Given the description of an element on the screen output the (x, y) to click on. 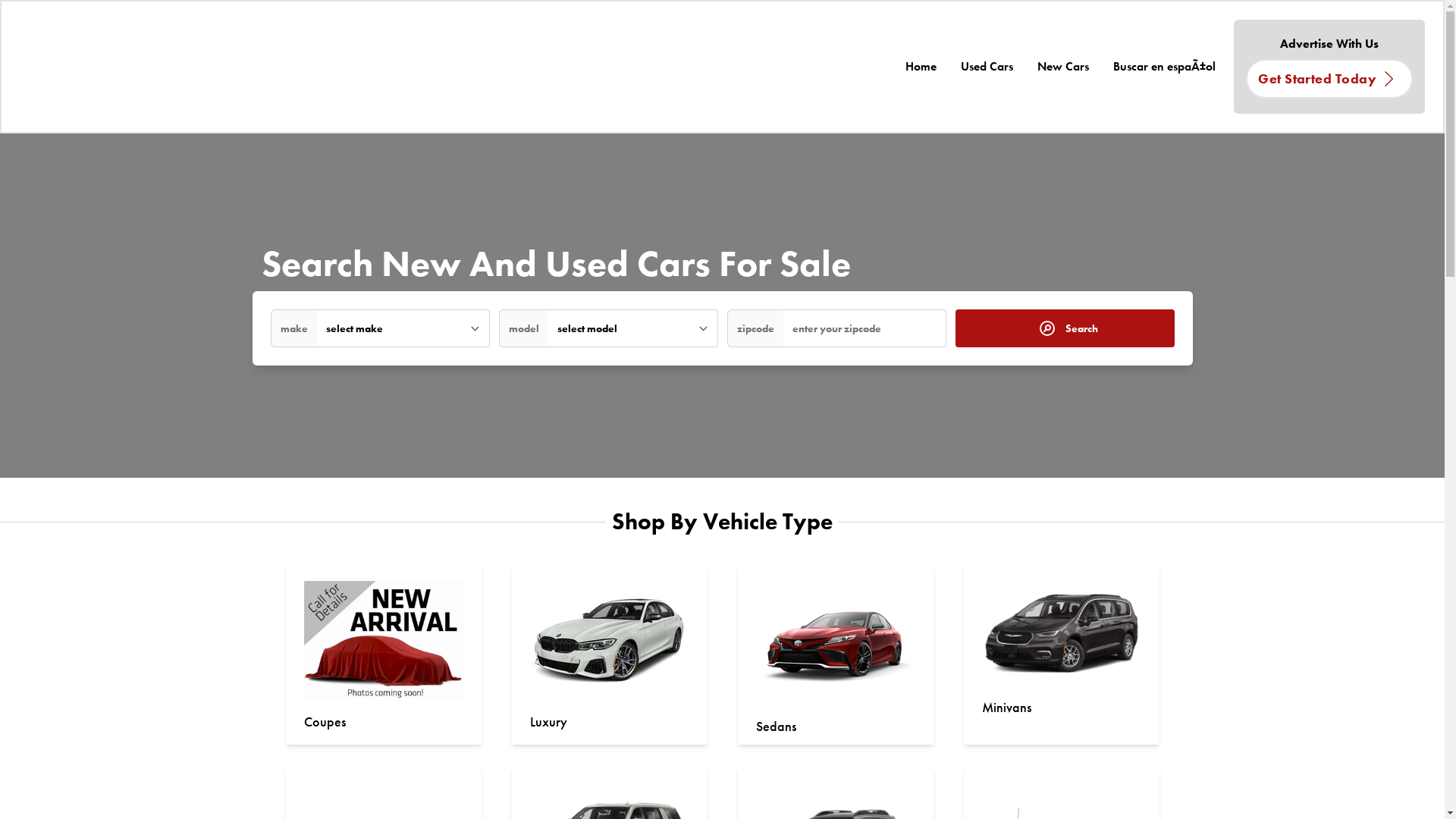
Get Started Today Element type: text (1328, 78)
New Cars Element type: text (1063, 66)
Home Element type: text (920, 66)
Coupes Element type: text (324, 721)
Used Cars Element type: text (986, 66)
Luxury Element type: text (547, 721)
Minivans Element type: text (1005, 706)
Search Element type: text (1064, 328)
Sedans Element type: text (775, 725)
